Given the description of an element on the screen output the (x, y) to click on. 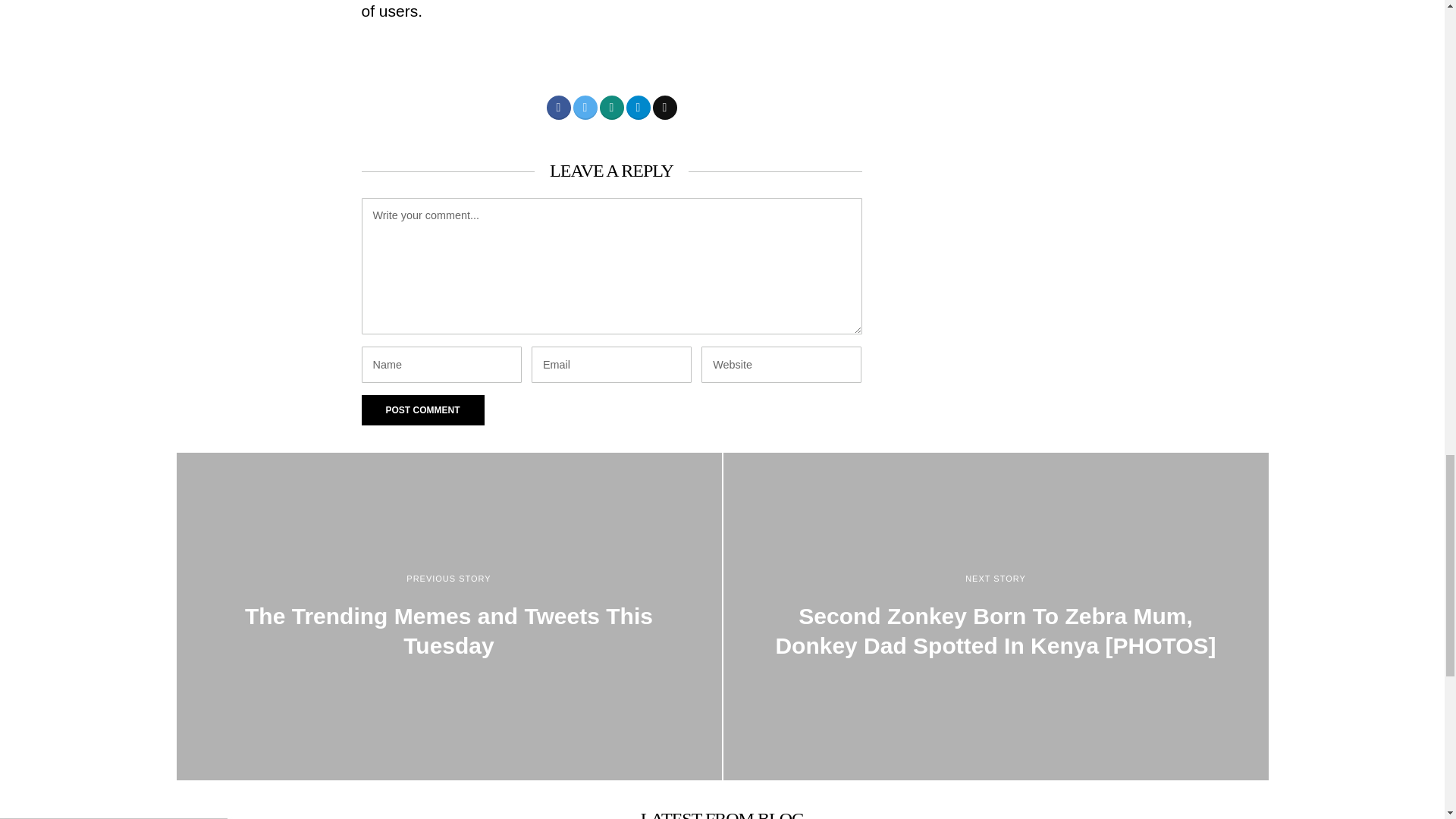
Post Comment (422, 409)
Post Comment (422, 409)
